Given the description of an element on the screen output the (x, y) to click on. 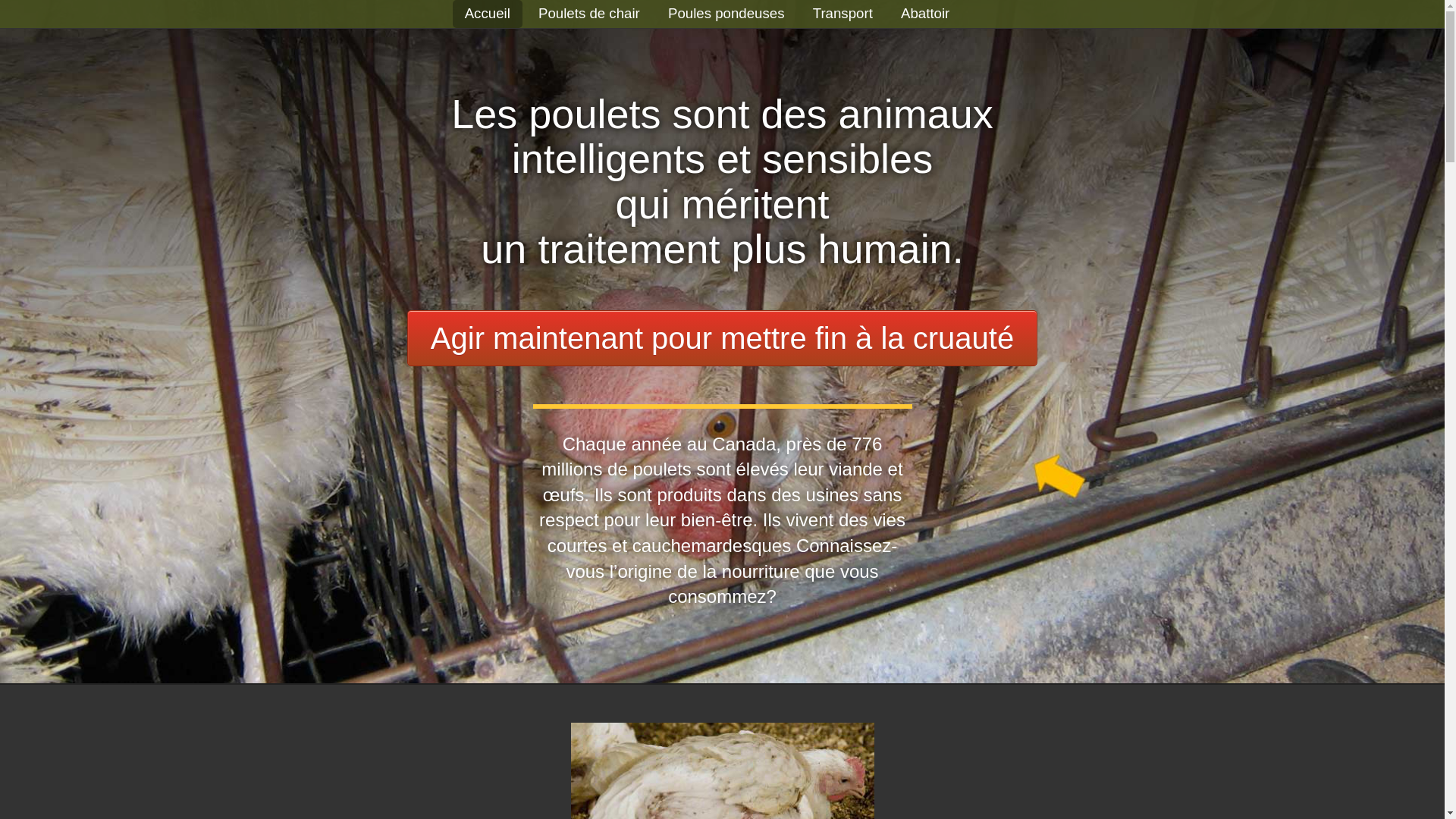
Abattoir Element type: text (924, 13)
Poules pondeuses Element type: text (726, 13)
Transport Element type: text (842, 13)
Poulets de chair Element type: text (589, 13)
